Given the description of an element on the screen output the (x, y) to click on. 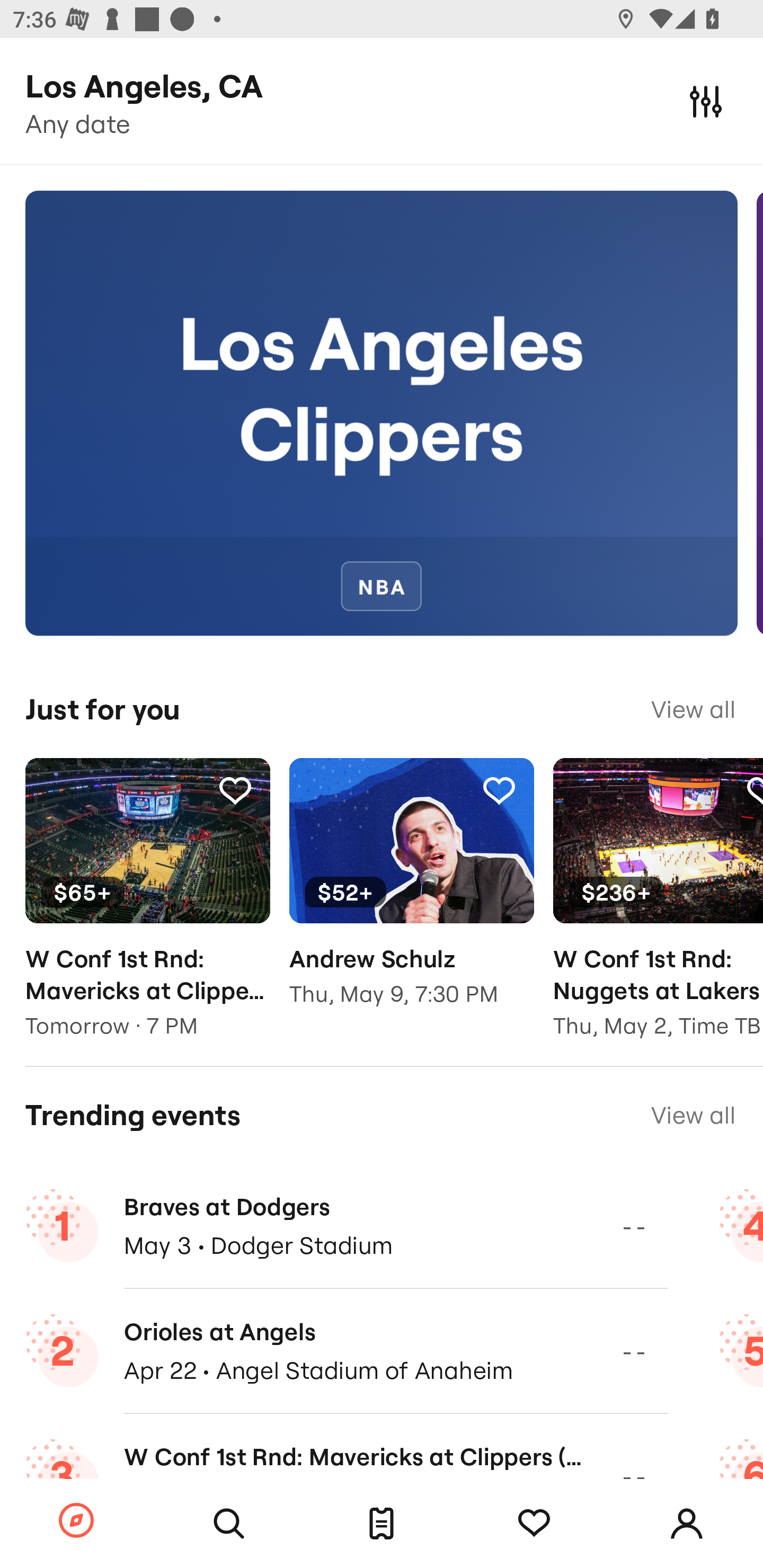
Filters (705, 100)
View all (693, 709)
Tracking $52+ Andrew Schulz Thu, May 9, 7:30 PM (411, 895)
Tracking (234, 790)
Tracking (498, 790)
View all (693, 1114)
Browse (76, 1521)
Search (228, 1523)
Tickets (381, 1523)
Tracking (533, 1523)
Account (686, 1523)
